Given the description of an element on the screen output the (x, y) to click on. 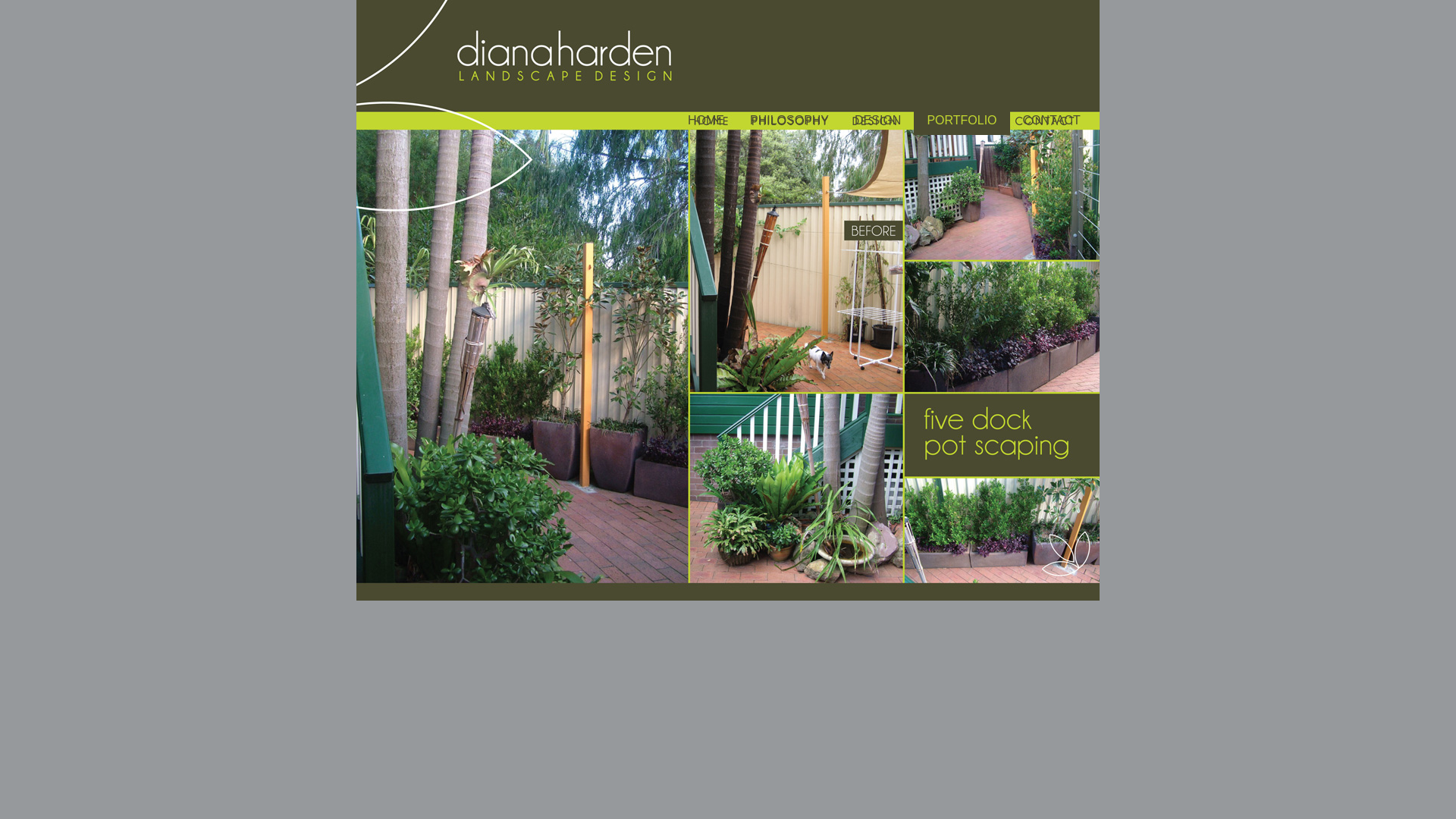
DESIGN Element type: text (877, 121)
PHILOSOPHY Element type: text (789, 121)
CONTACT Element type: text (1051, 121)
PORTFOLIO Element type: text (961, 121)
HOME Element type: text (705, 121)
